Given the description of an element on the screen output the (x, y) to click on. 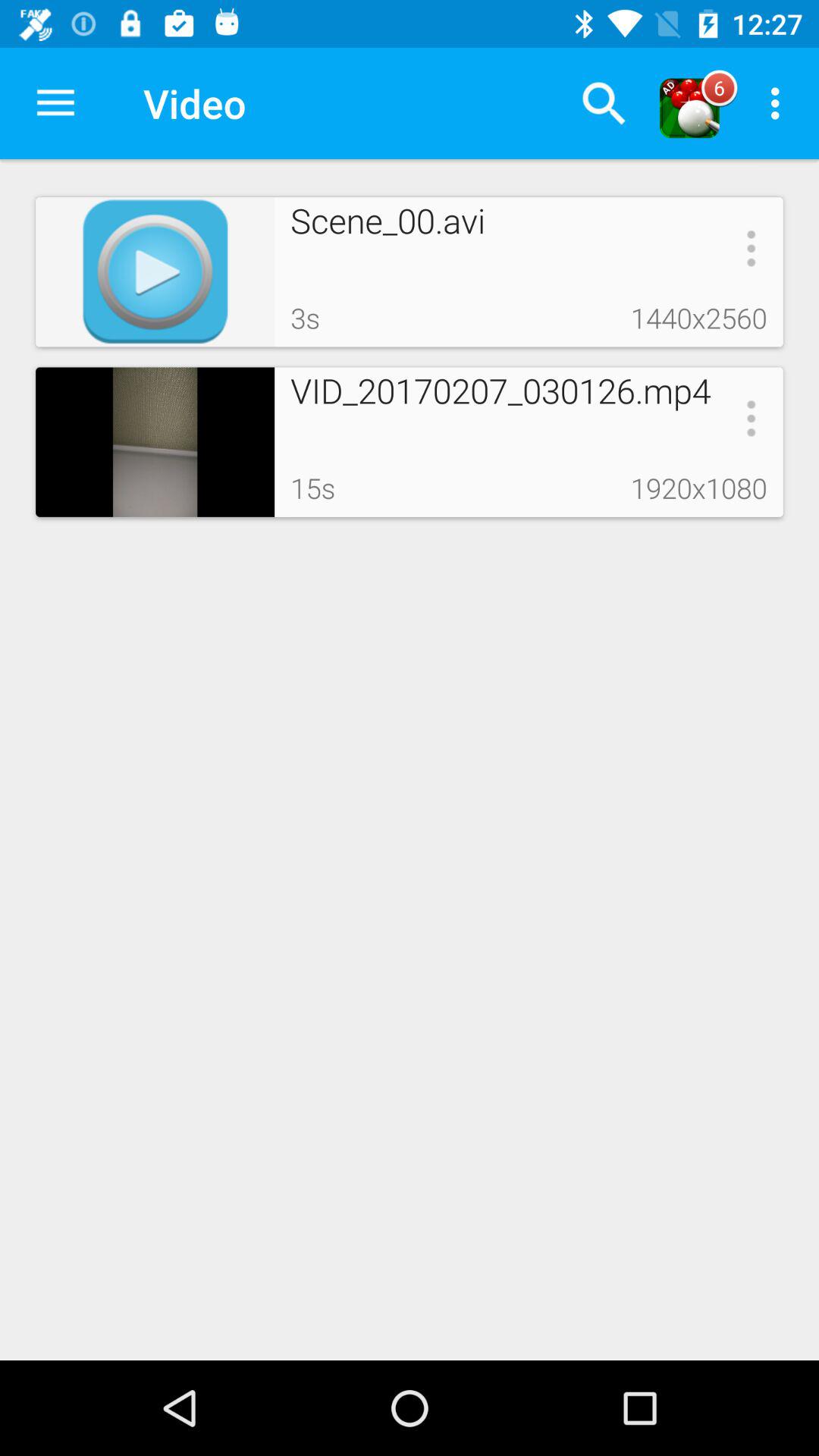
tap icon next to the 6 icon (779, 103)
